Given the description of an element on the screen output the (x, y) to click on. 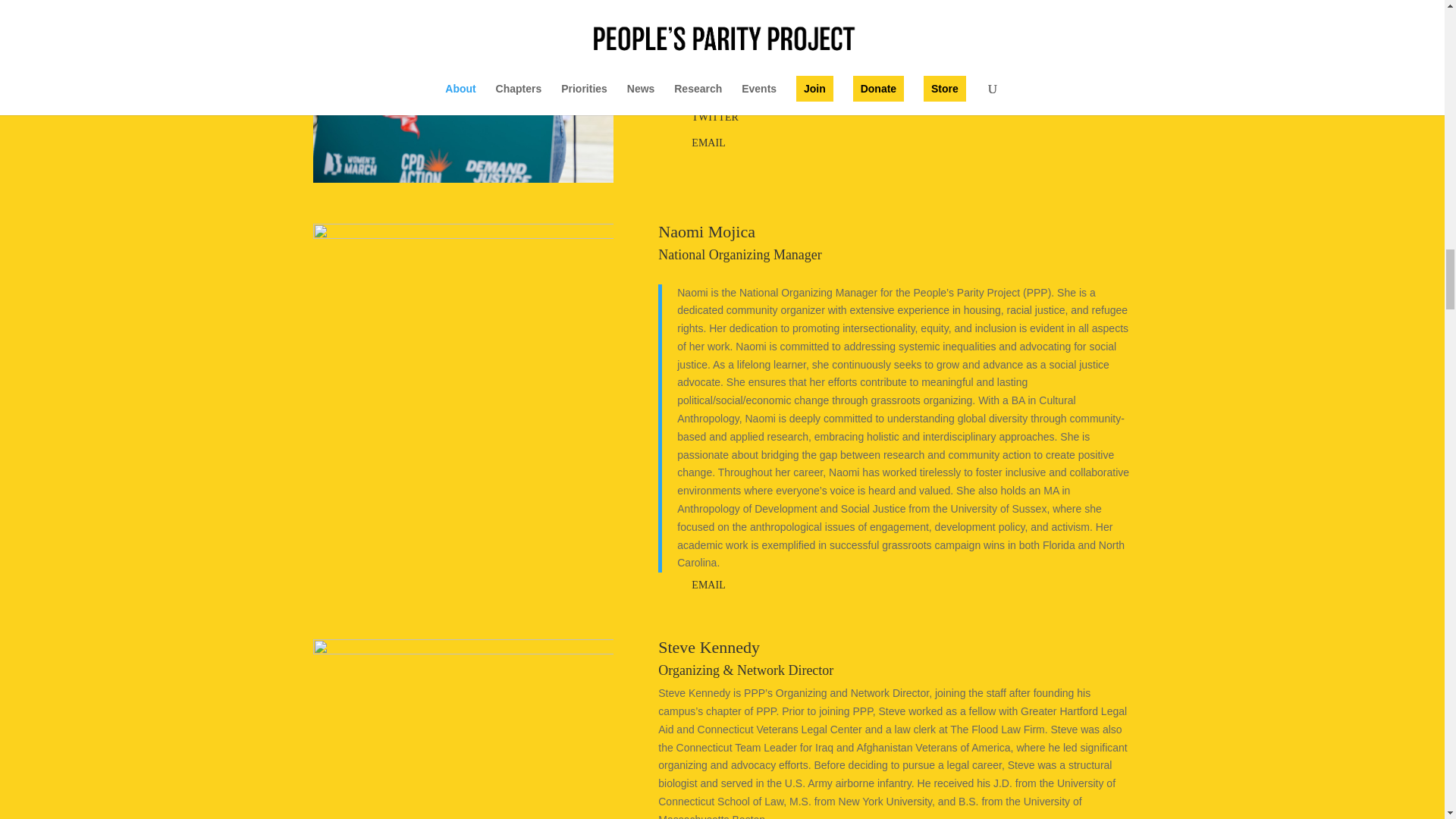
Minnesota Reformer (872, 24)
Bloomberg Law (821, 15)
New York Magazine (791, 2)
Business Insider (882, 2)
Washington Post (698, 2)
Molly at Reclaim (462, 91)
Teen Vogue (892, 15)
The American Prospect (724, 15)
